Given the description of an element on the screen output the (x, y) to click on. 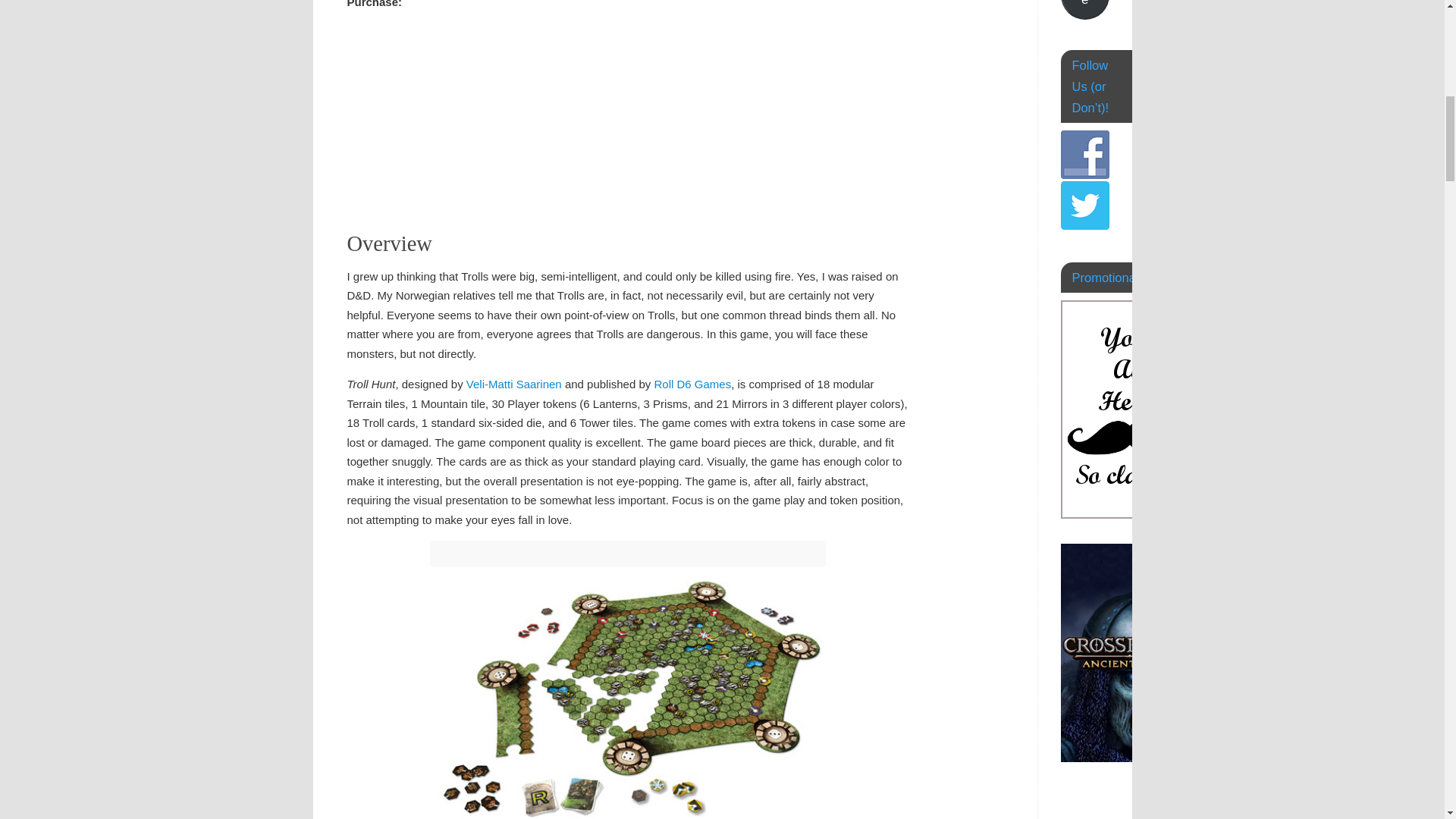
Roll D6 Games (691, 383)
Veli-Matti Saarinen (513, 383)
